Given the description of an element on the screen output the (x, y) to click on. 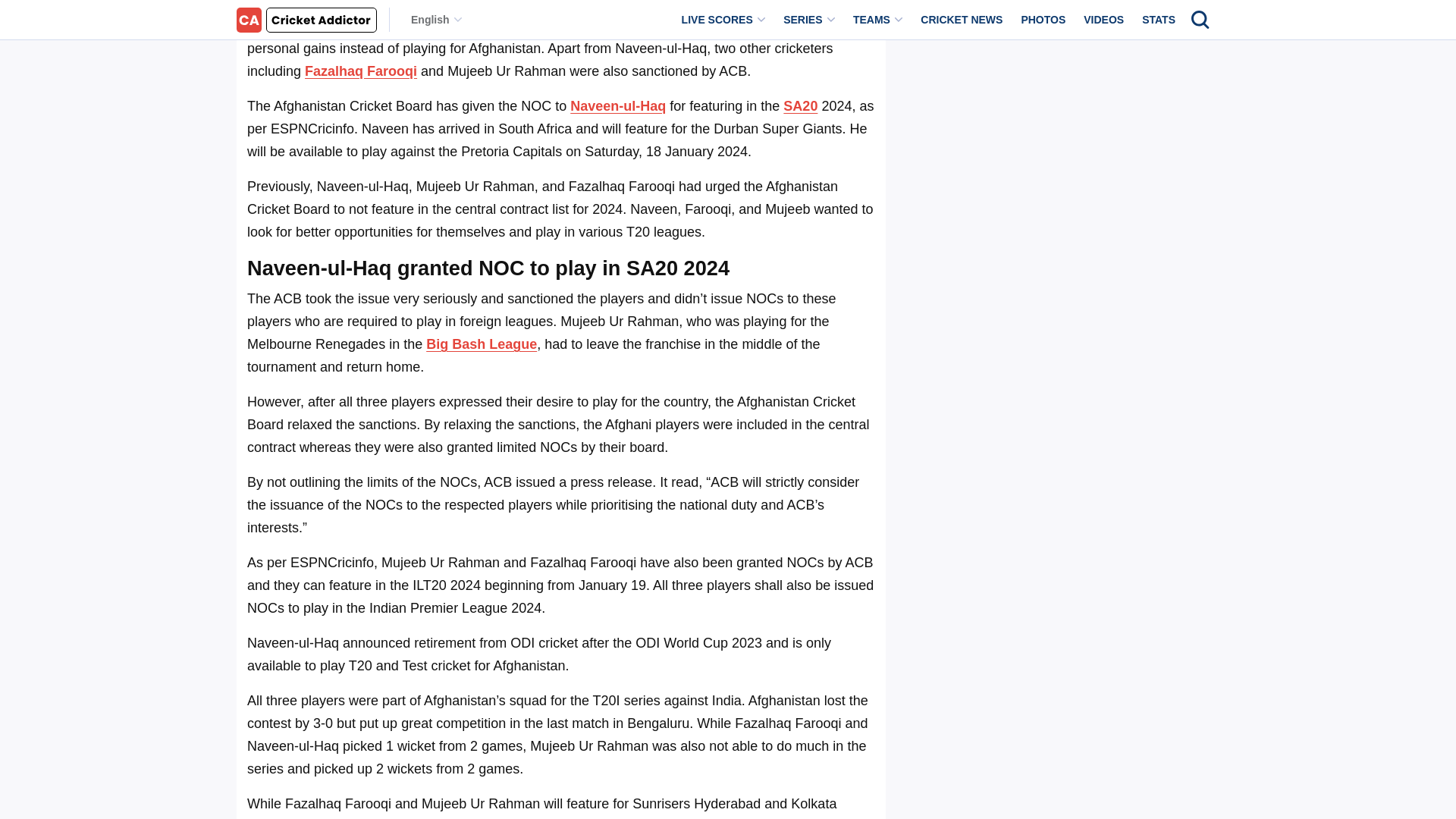
Big Bash League (481, 344)
Fazalhaq Farooqi (360, 70)
